Given the description of an element on the screen output the (x, y) to click on. 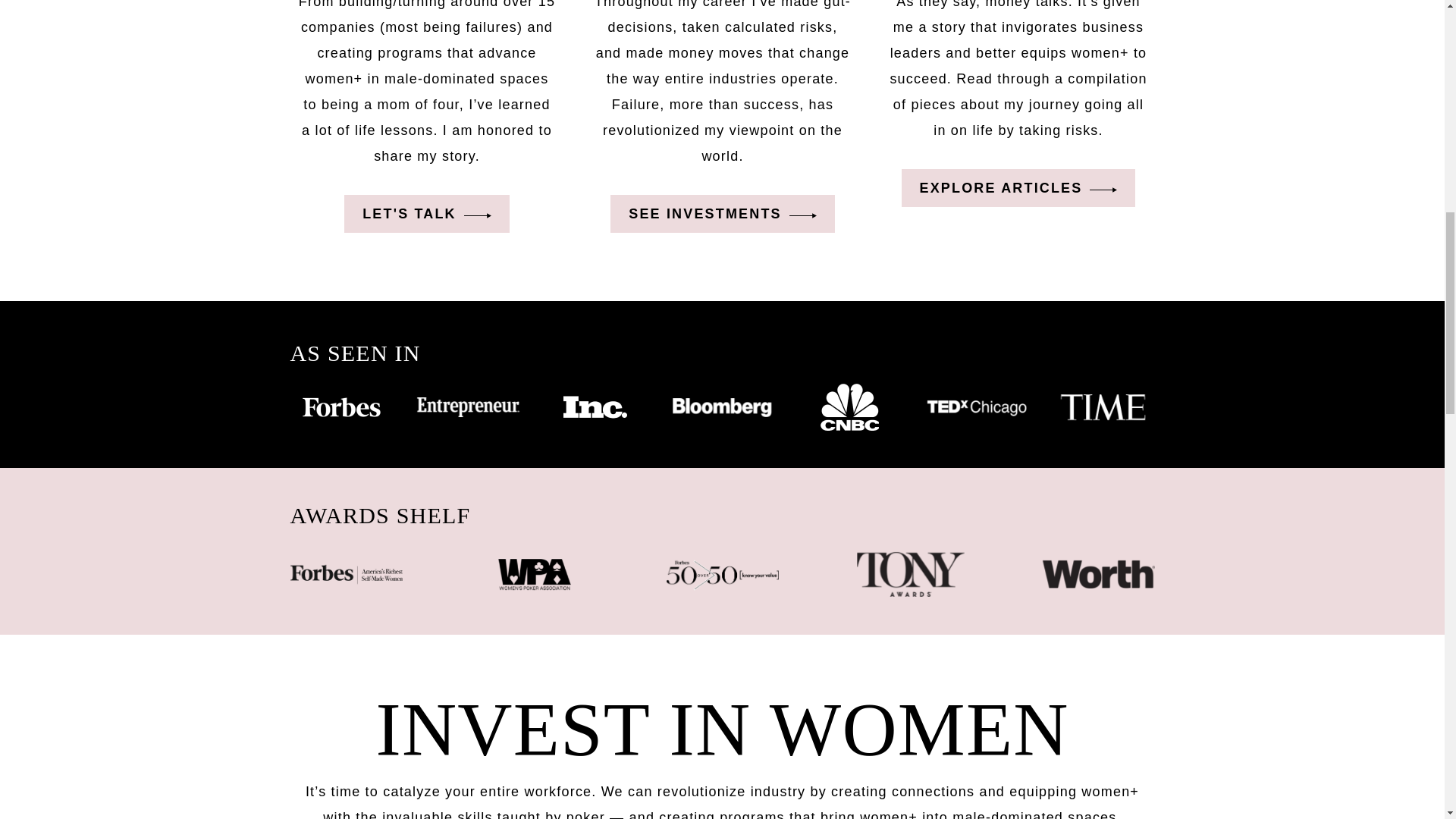
SEE INVESTMENTS (722, 213)
EXPLORE ARTICLES (1018, 187)
LET'S TALK (426, 213)
